Given the description of an element on the screen output the (x, y) to click on. 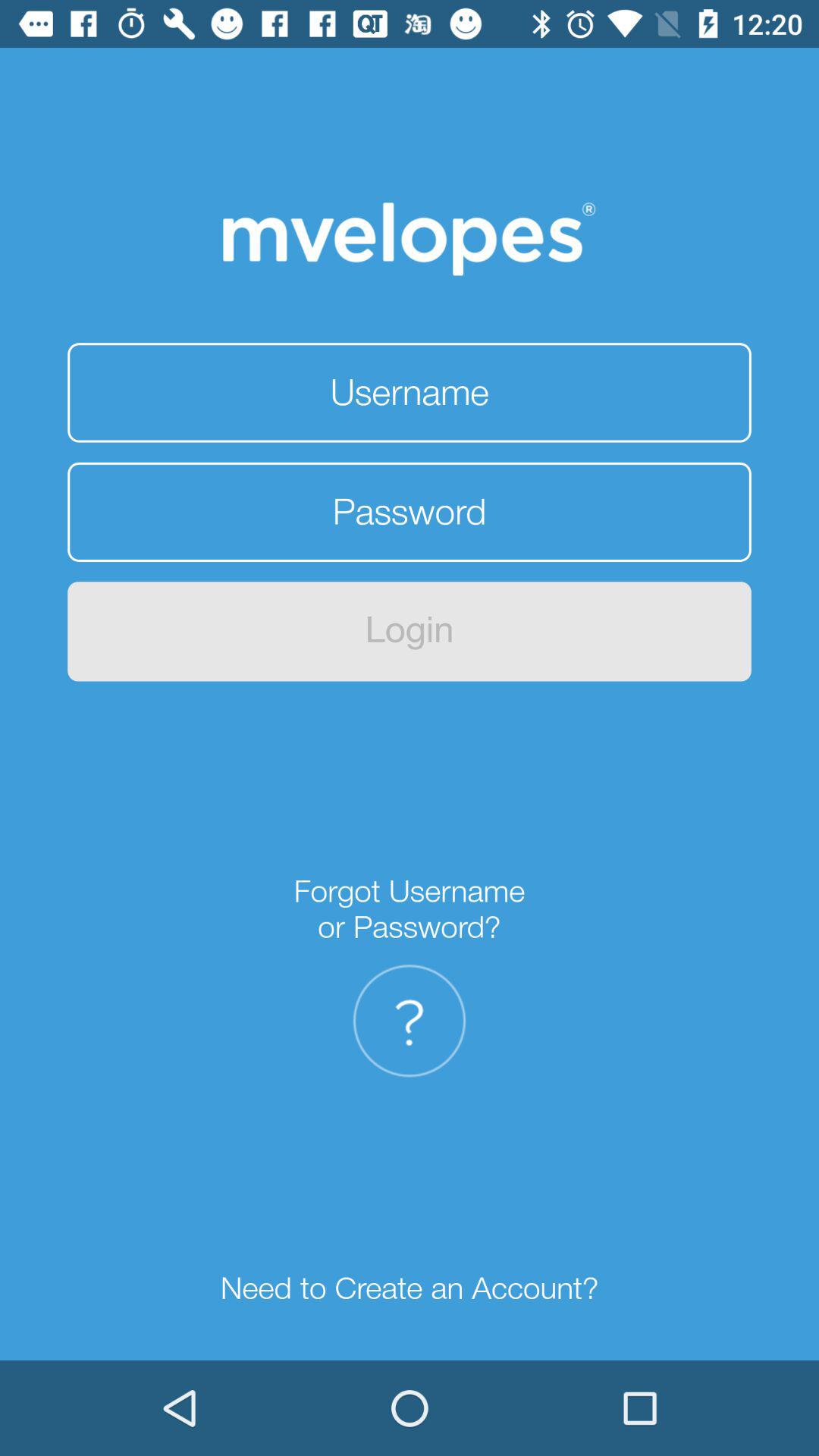
type in password (409, 511)
